Given the description of an element on the screen output the (x, y) to click on. 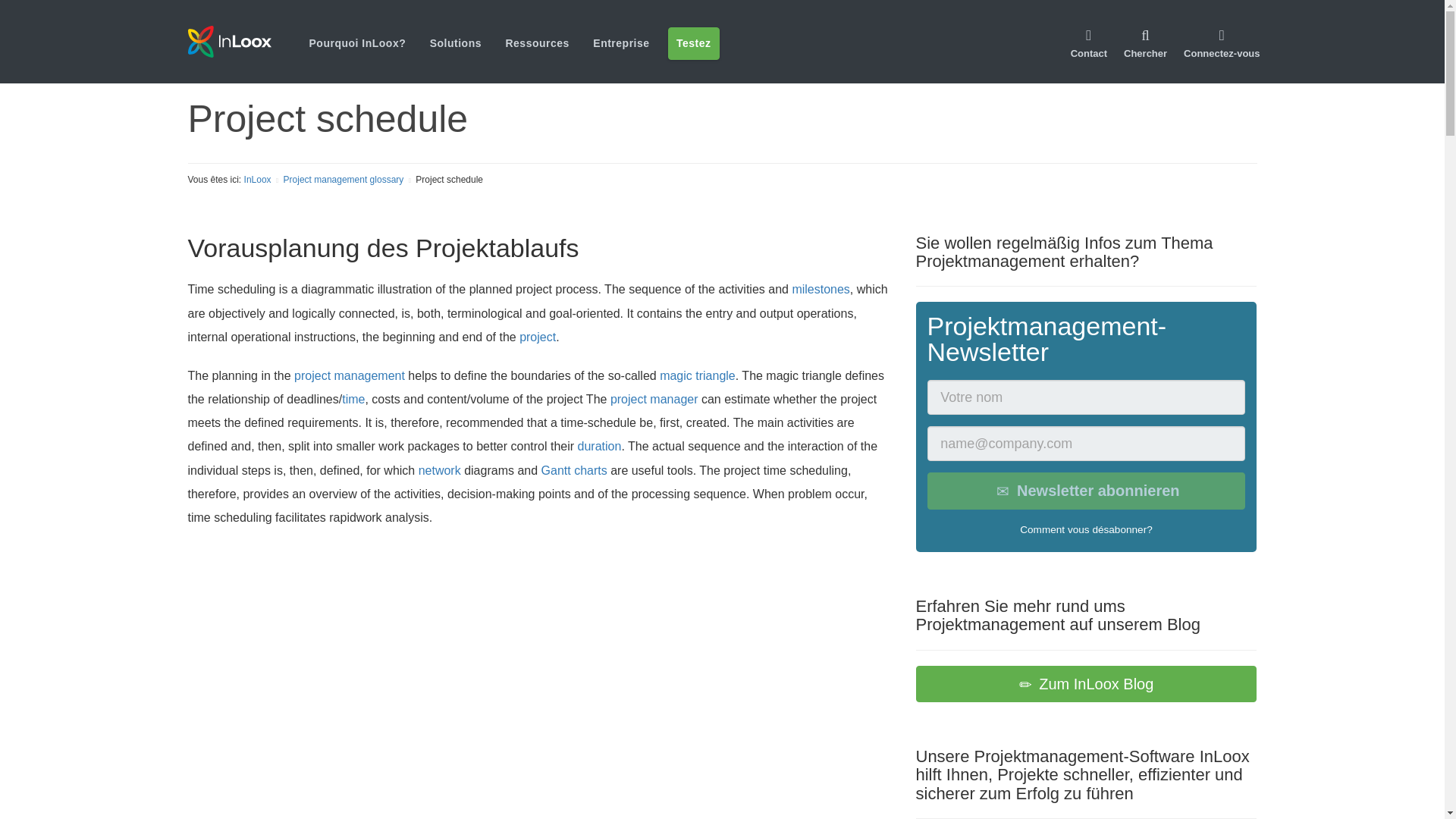
Pourquoi InLoox? (357, 42)
InLoox (247, 41)
InLoox (228, 41)
